Given the description of an element on the screen output the (x, y) to click on. 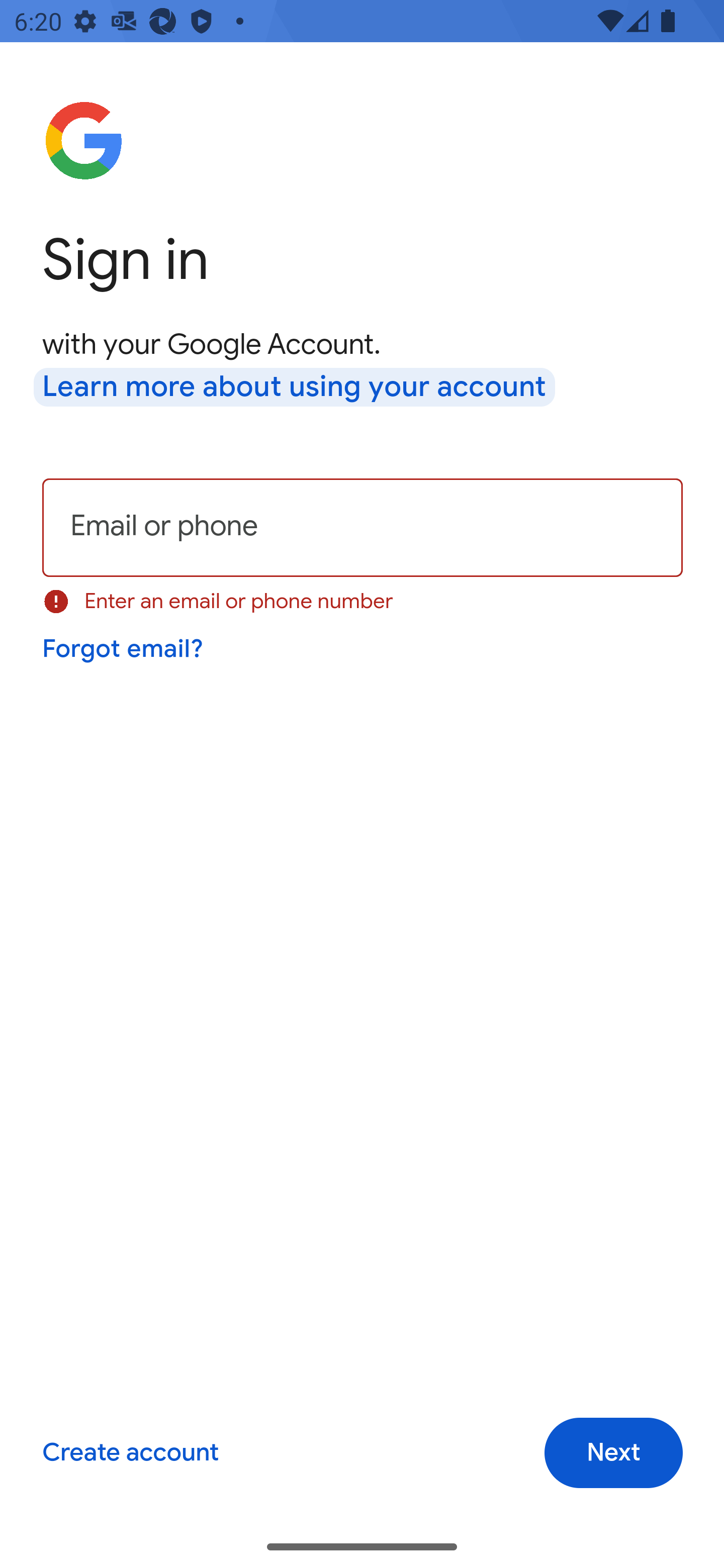
Learn more about using your account (294, 388)
Forgot email? (123, 648)
Create account (129, 1453)
Next (613, 1453)
